Given the description of an element on the screen output the (x, y) to click on. 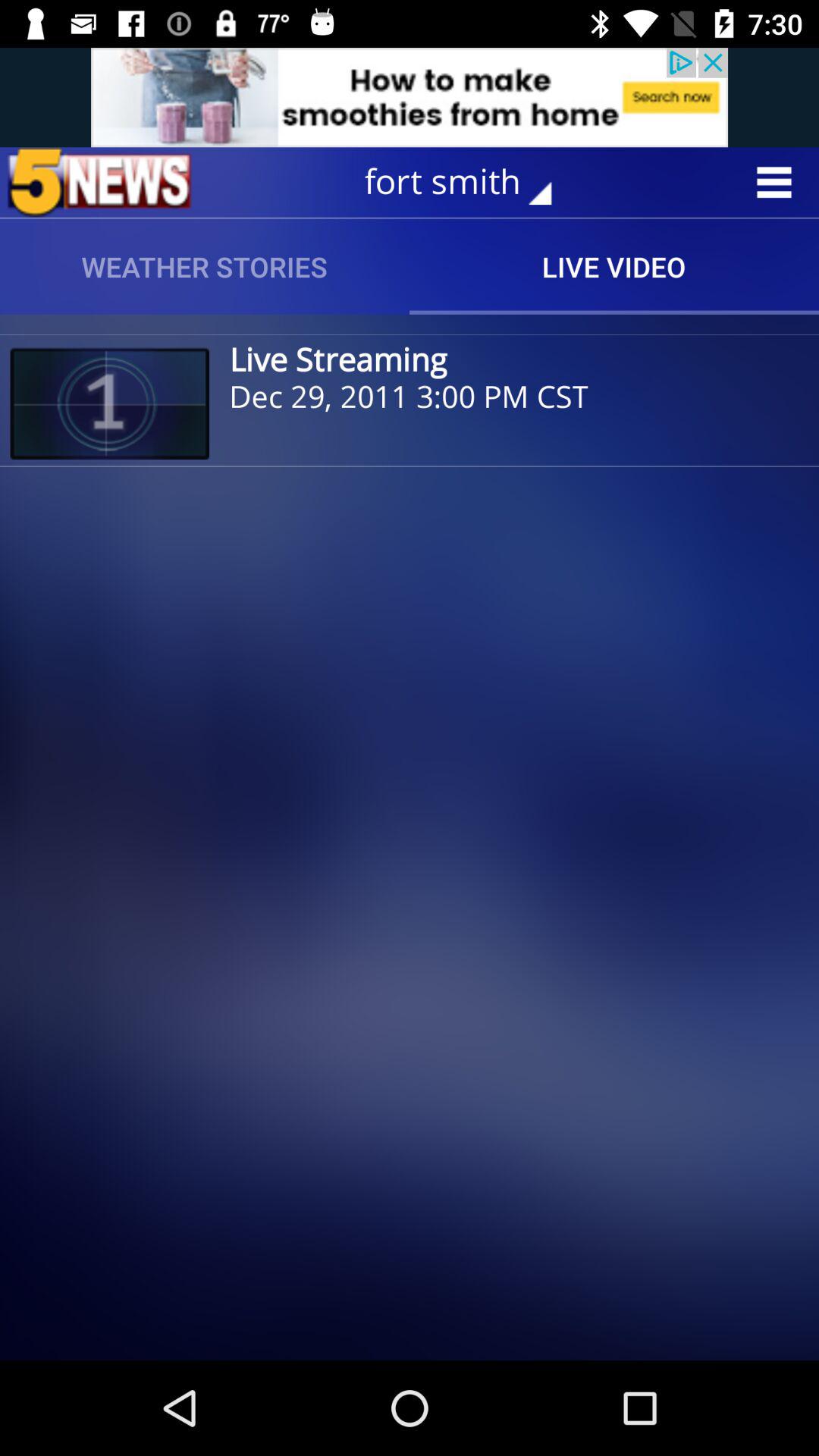
advertisement (409, 97)
